Given the description of an element on the screen output the (x, y) to click on. 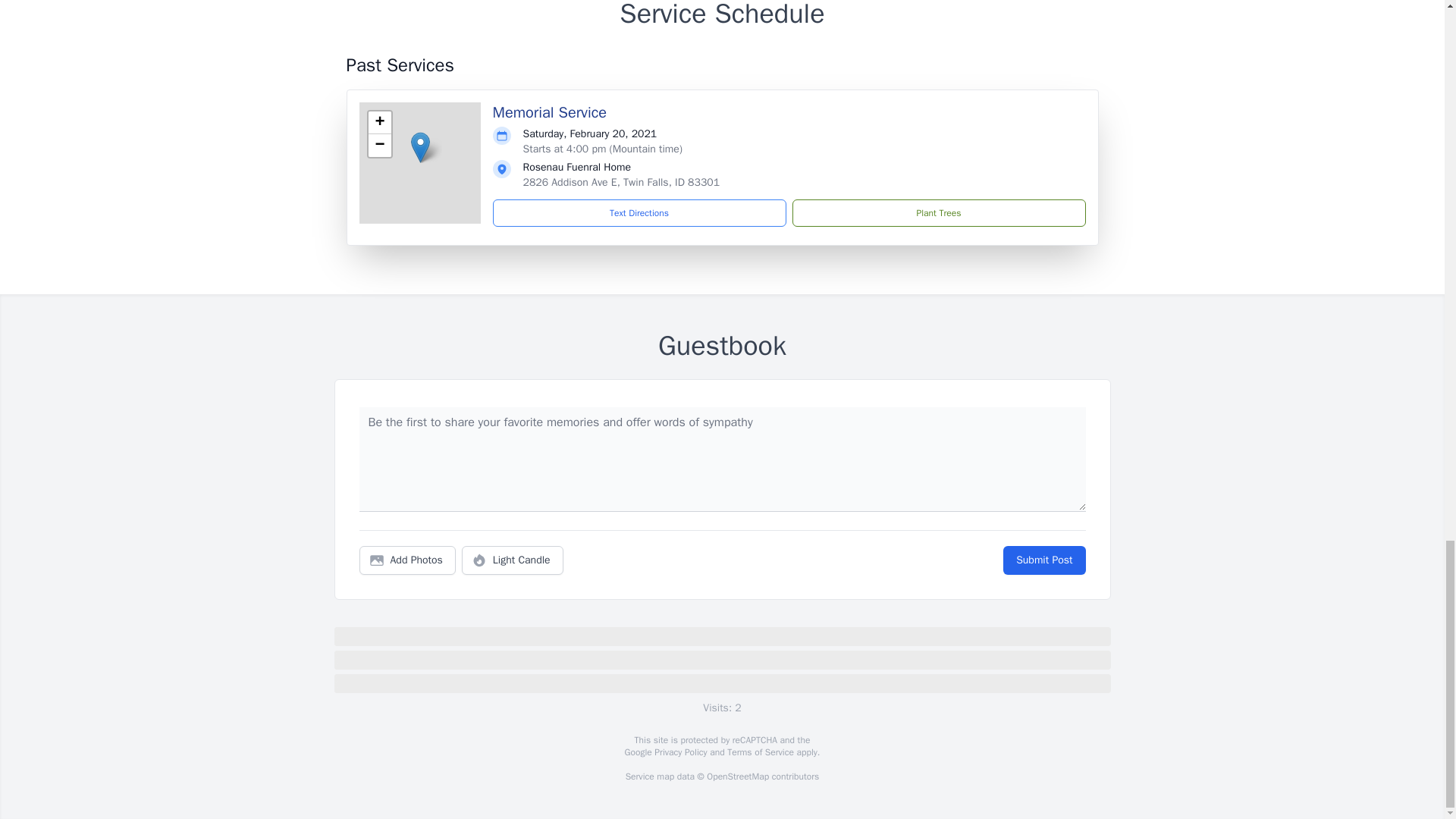
Terms of Service (759, 752)
Zoom out (379, 145)
2826 Addison Ave E, Twin Falls, ID 83301 (621, 182)
Add Photos (407, 560)
Light Candle (512, 560)
Text Directions (639, 212)
Submit Post (1043, 560)
OpenStreetMap (737, 776)
Plant Trees (938, 212)
Privacy Policy (679, 752)
Zoom in (379, 122)
